Given the description of an element on the screen output the (x, y) to click on. 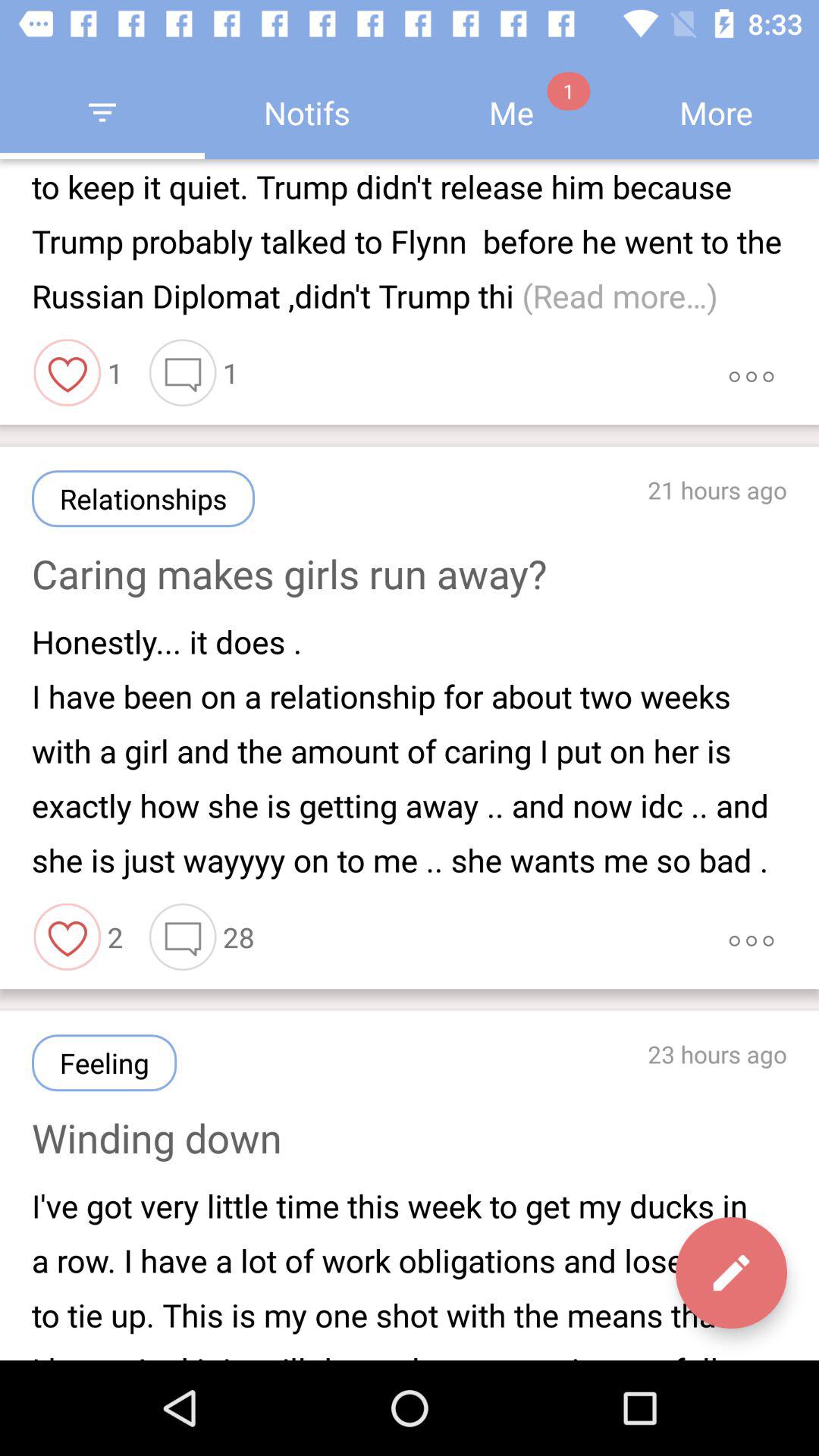
select icon to the left of 23 hours ago item (103, 1062)
